Given the description of an element on the screen output the (x, y) to click on. 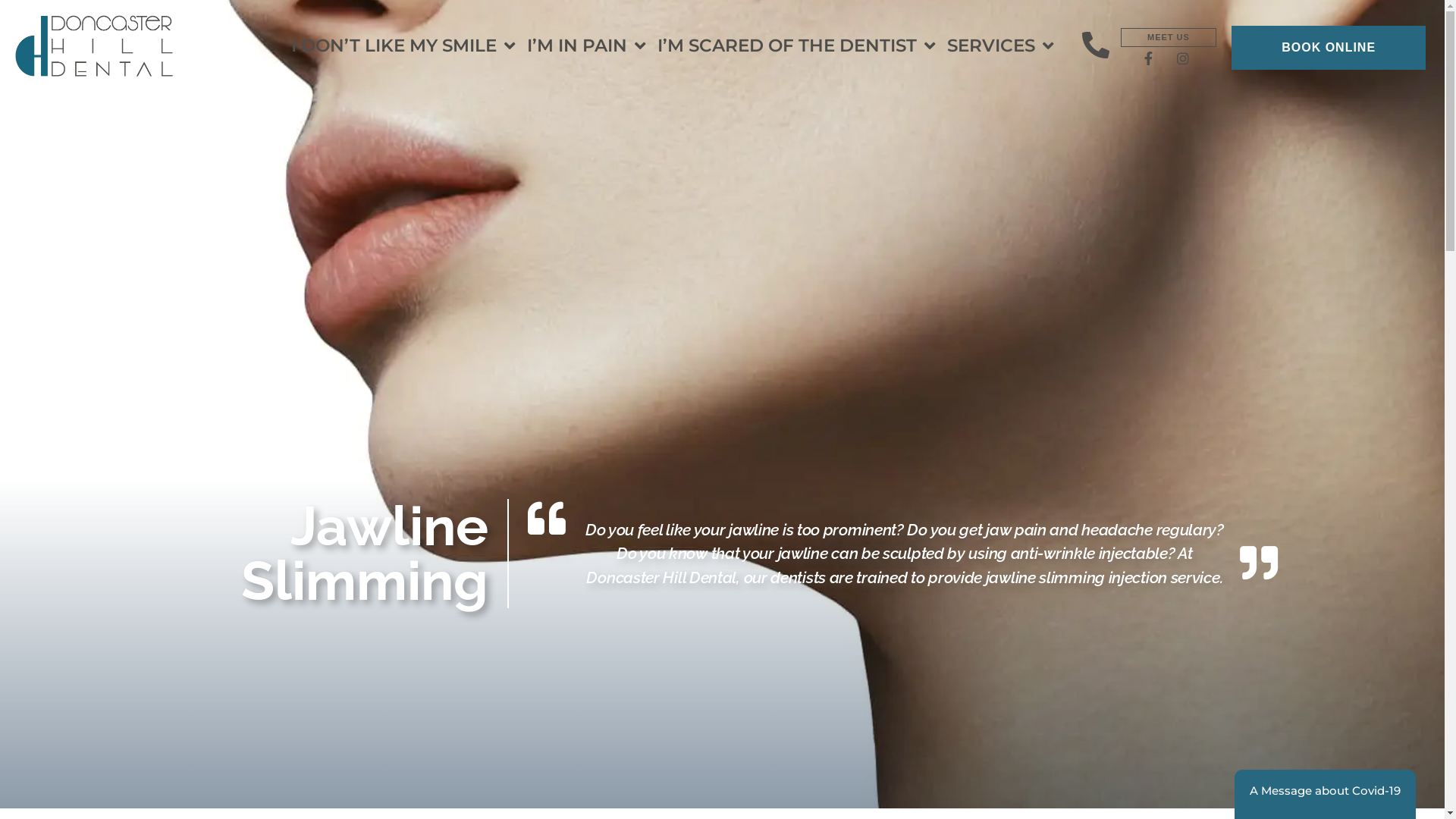
BOOK ONLINE Element type: text (1328, 47)
SERVICES Element type: text (1006, 45)
MEET US Element type: text (1168, 37)
